Given the description of an element on the screen output the (x, y) to click on. 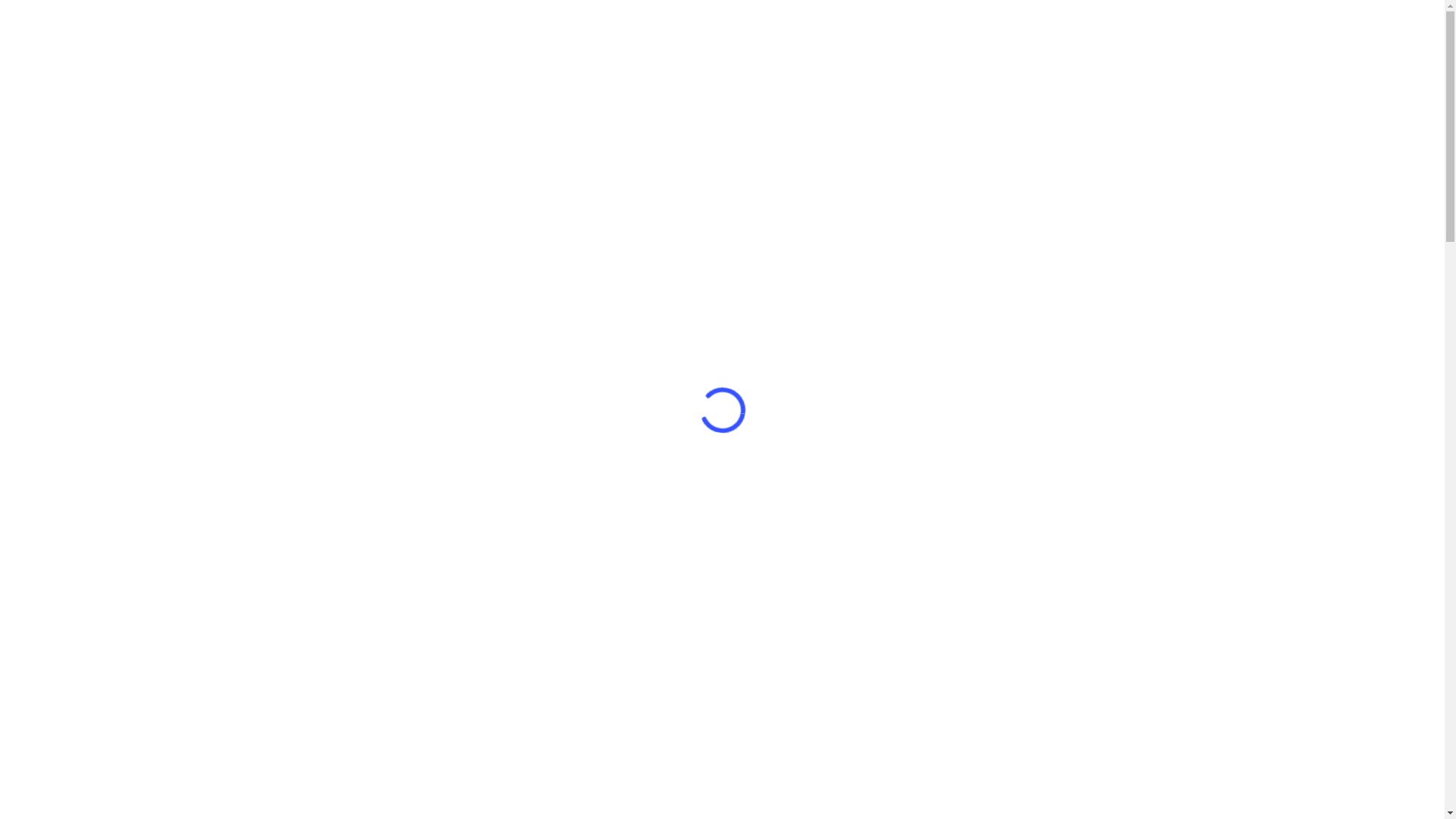
SPORTS SIMULATOR Element type: text (751, 73)
GOLF SIMULATOR Element type: text (643, 73)
FullSwing Element type: text (337, 604)
PRIVATE DRIVING RANGE LOUNGE Element type: text (1120, 73)
LEARN MORE Element type: text (309, 359)
BOOK NOW Element type: text (448, 359)
INDOOR DRIVING RANGE Element type: text (961, 73)
ABOUT Element type: text (567, 73)
HOME Element type: text (520, 73)
BOOK NOW Element type: text (1292, 73)
RATES Element type: text (1233, 73)
EATERY & BAR Element type: text (850, 73)
